Given the description of an element on the screen output the (x, y) to click on. 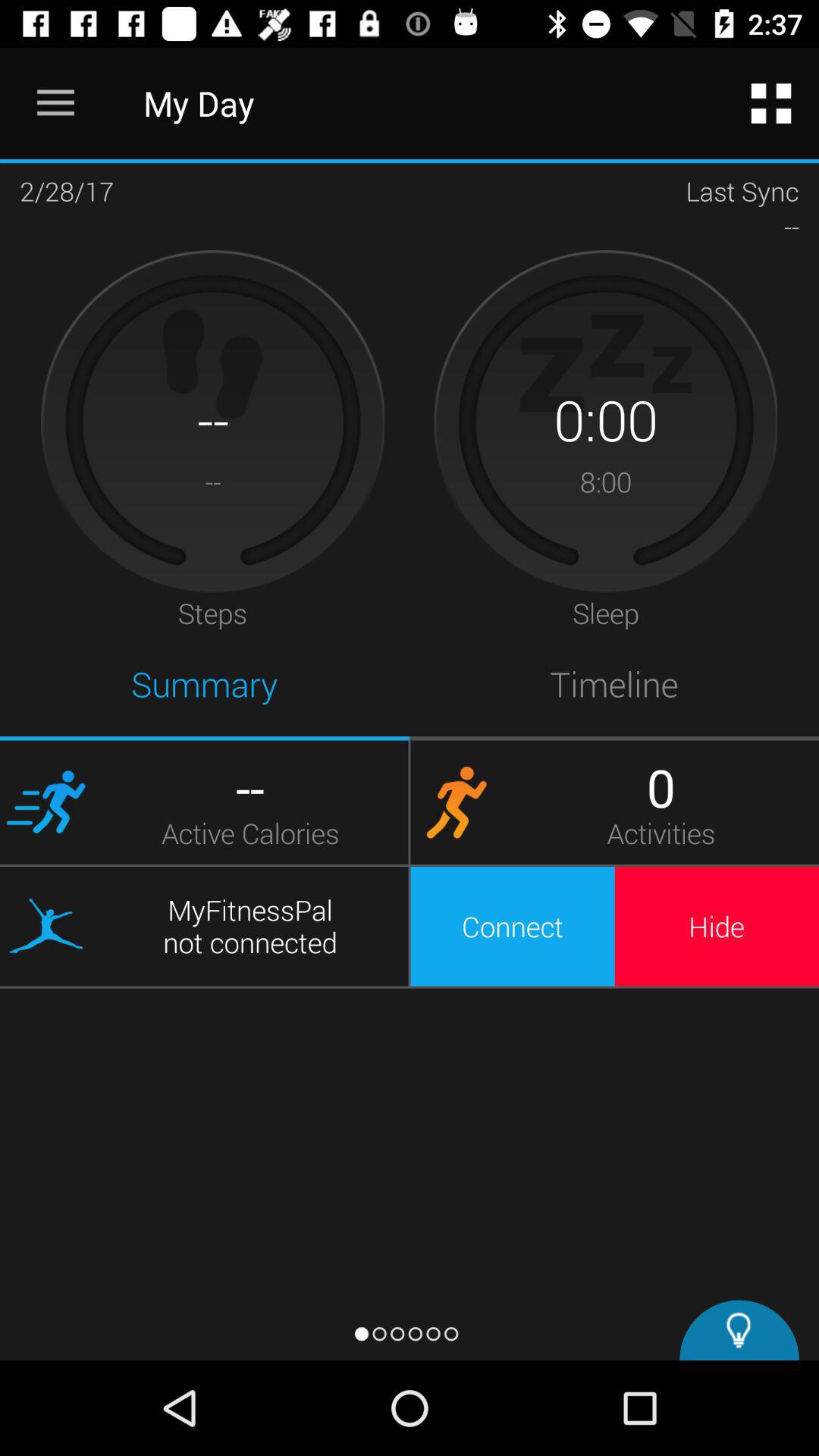
turn off icon next to the my day icon (55, 103)
